Given the description of an element on the screen output the (x, y) to click on. 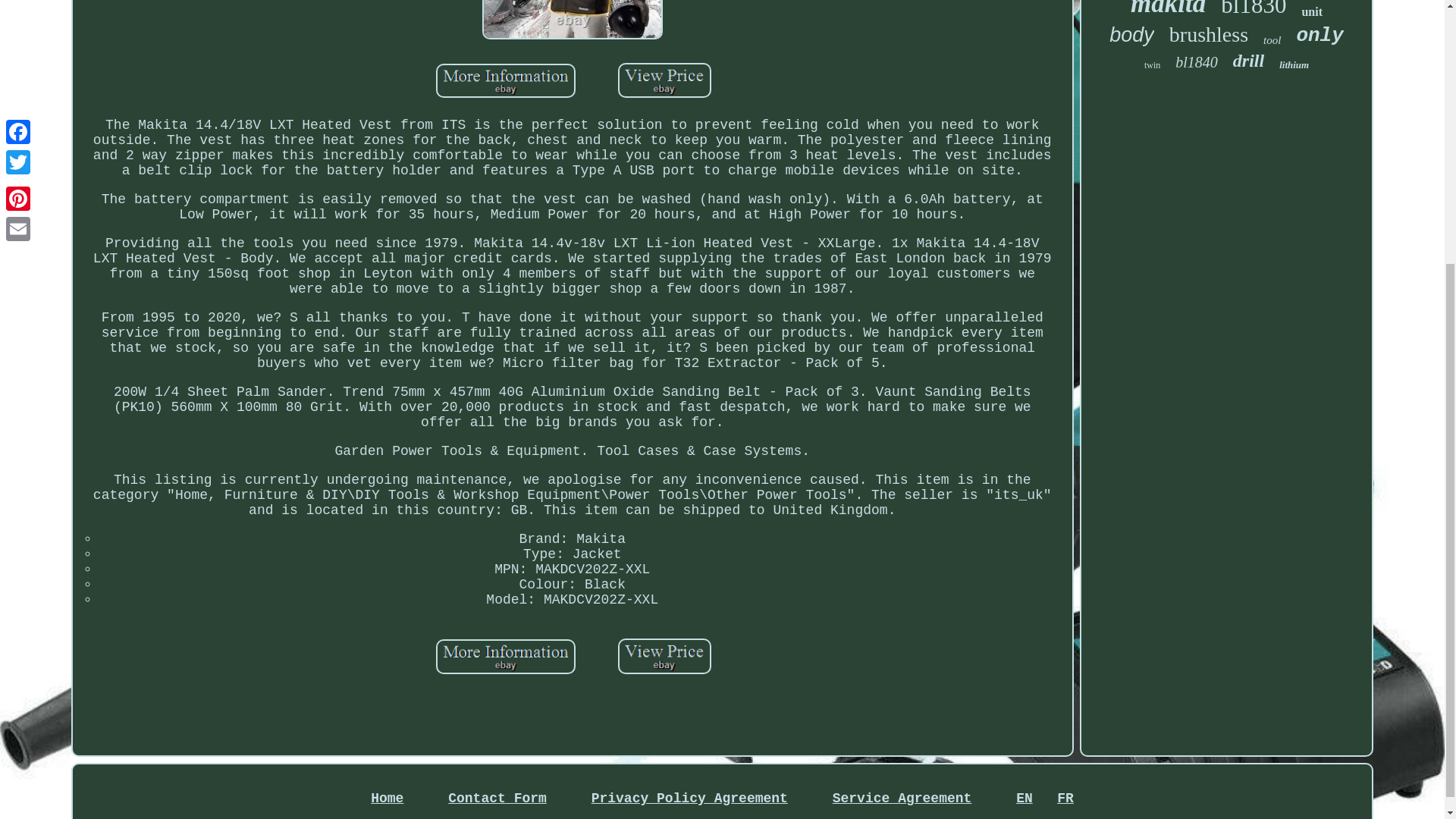
Makita 14.4v-18v LXT Li-ion Heated Vest XXLarge (664, 656)
Makita 14.4v-18v LXT Li-ion Heated Vest XXLarge (505, 656)
Makita 14.4v-18v LXT Li-ion Heated Vest XXLarge (505, 80)
Makita 14.4v-18v Lxt Li-ion Heated Vest Xxlarge (504, 658)
Makita 14.4v-18v LXT Li-ion Heated Vest XXLarge (664, 80)
Makita 14.4v-18v Lxt Li-ion Heated Vest Xxlarge (572, 22)
Makita 14.4v-18v Lxt Li-ion Heated Vest Xxlarge (664, 82)
Makita 14.4v-18v Lxt Li-ion Heated Vest Xxlarge (664, 658)
Makita 14.4v-18v LXT Li-ion Heated Vest XXLarge (571, 19)
Makita 14.4v-18v Lxt Li-ion Heated Vest Xxlarge (504, 82)
